Given the description of an element on the screen output the (x, y) to click on. 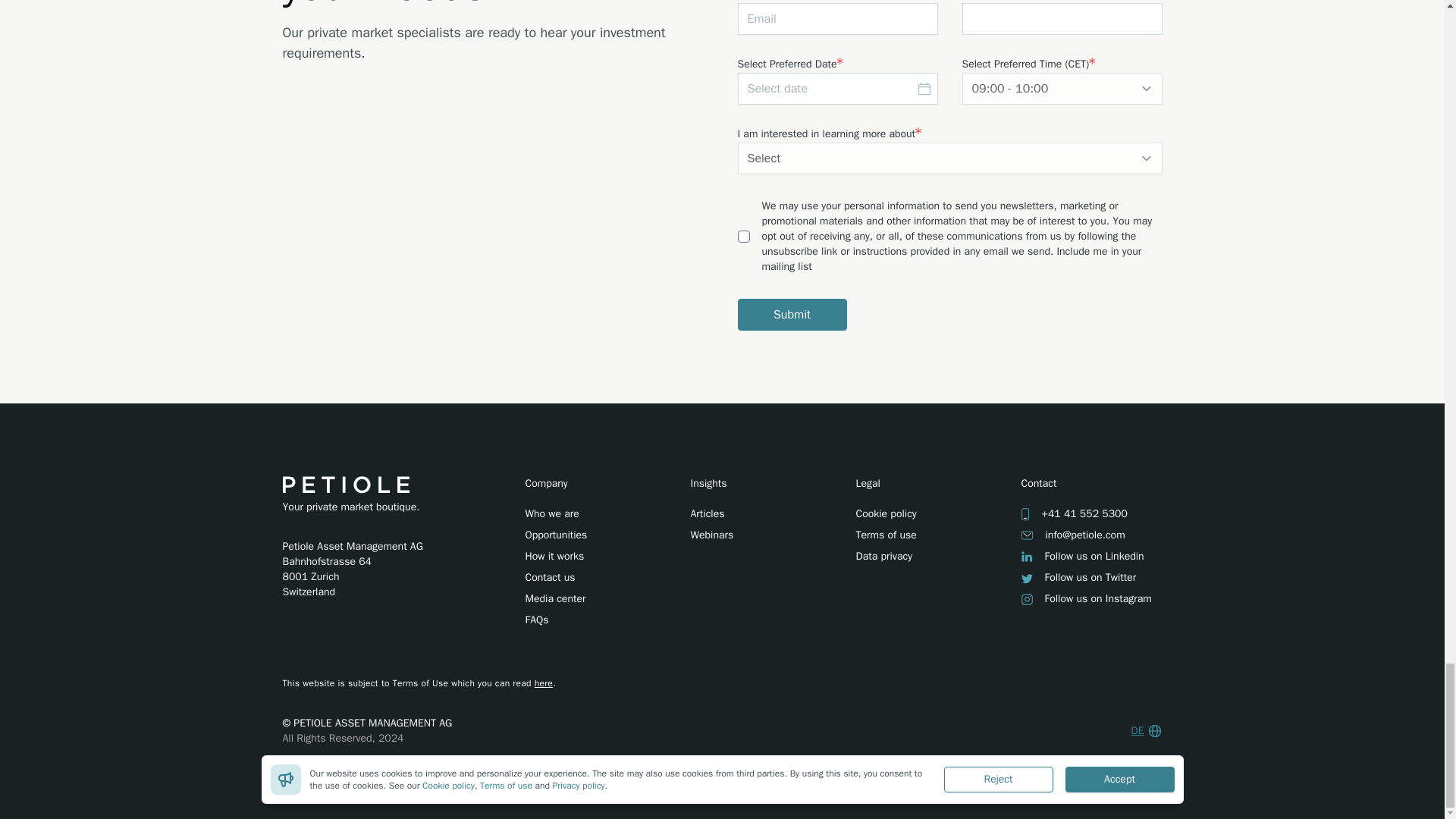
on (742, 236)
